Given the description of an element on the screen output the (x, y) to click on. 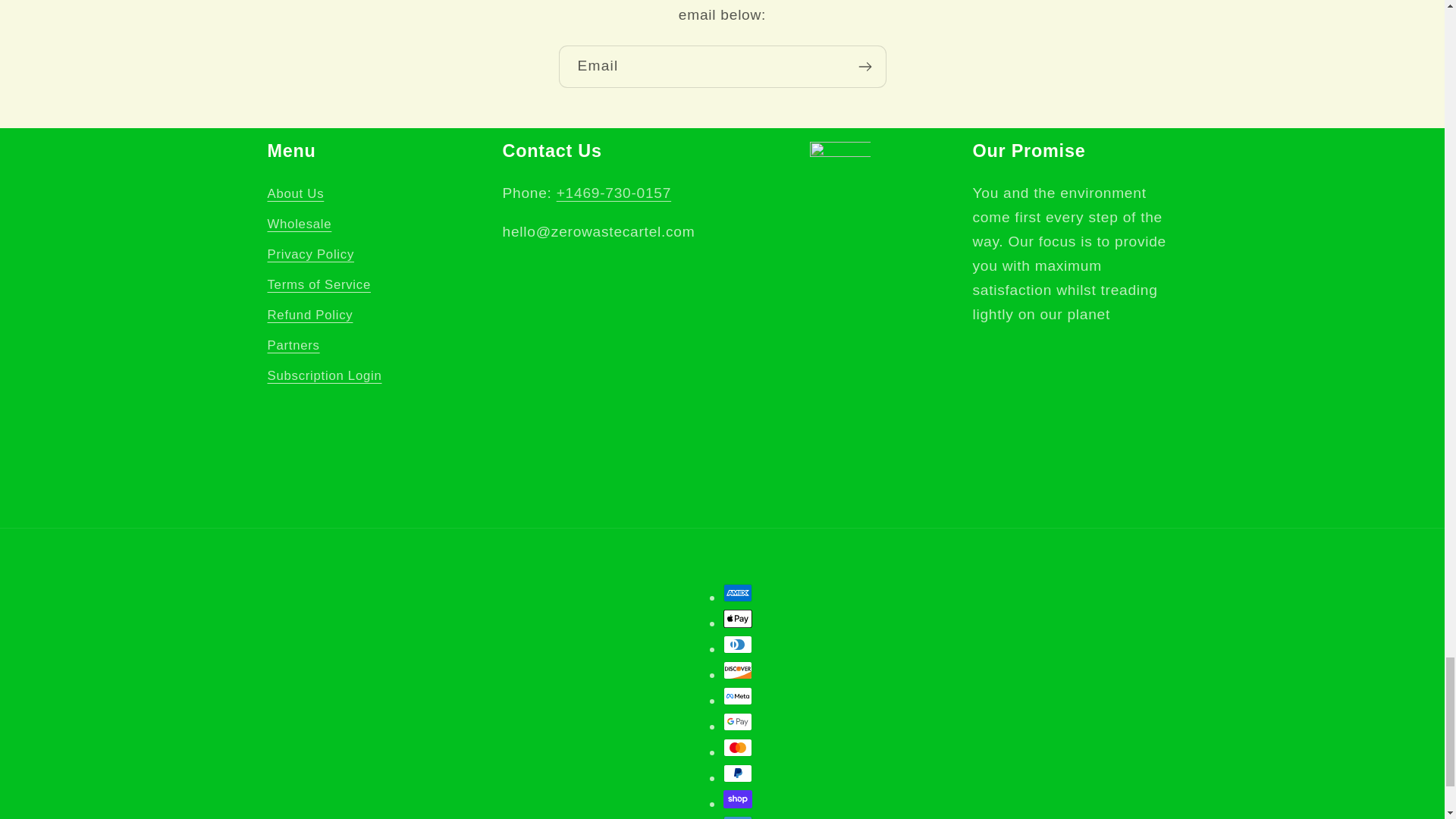
Apple Pay (737, 618)
Diners Club (737, 644)
American Express (737, 592)
